Given the description of an element on the screen output the (x, y) to click on. 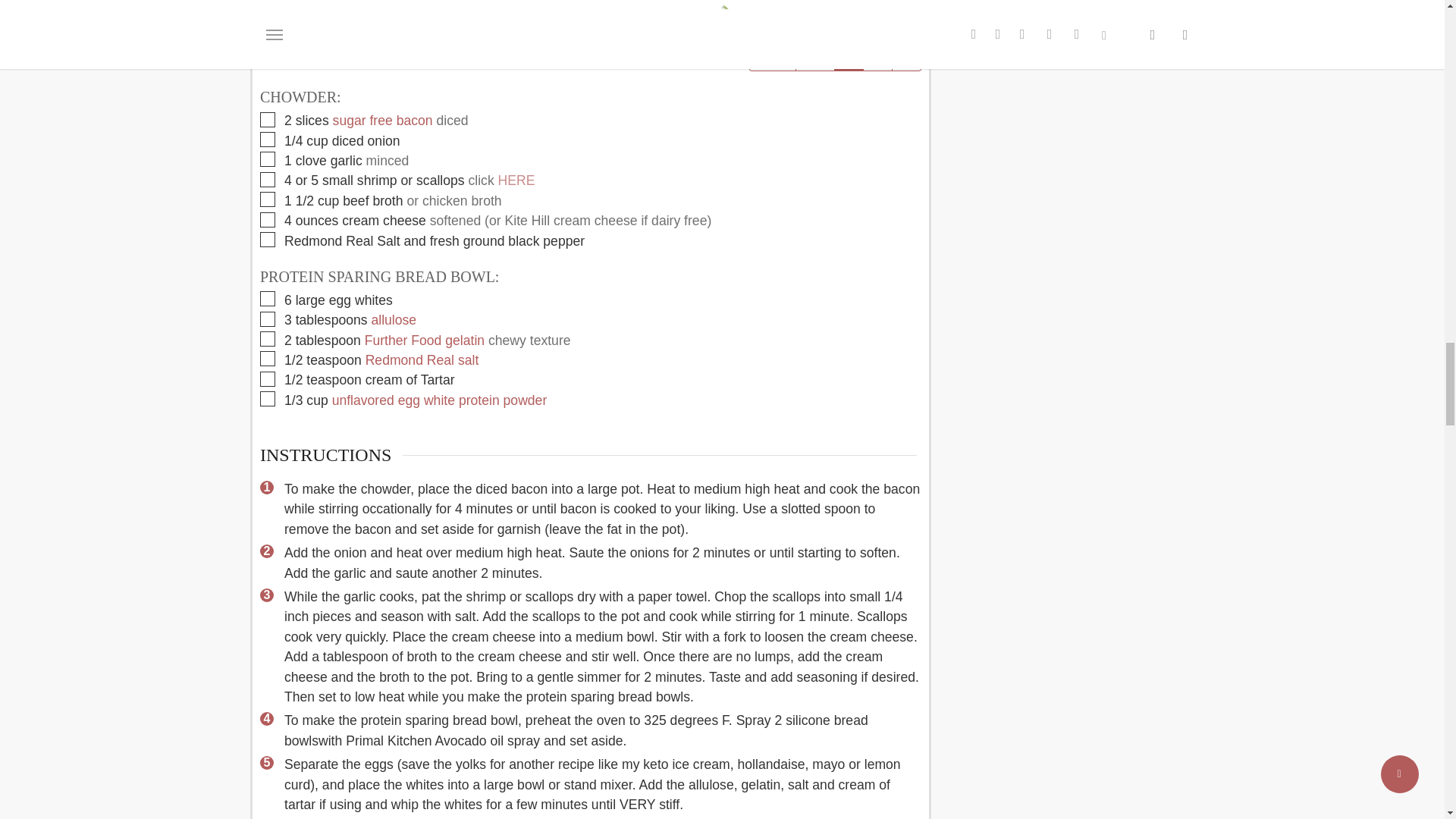
sugar free bacon (382, 120)
0.25x (771, 51)
HERE (516, 180)
0.5x (814, 51)
